Given the description of an element on the screen output the (x, y) to click on. 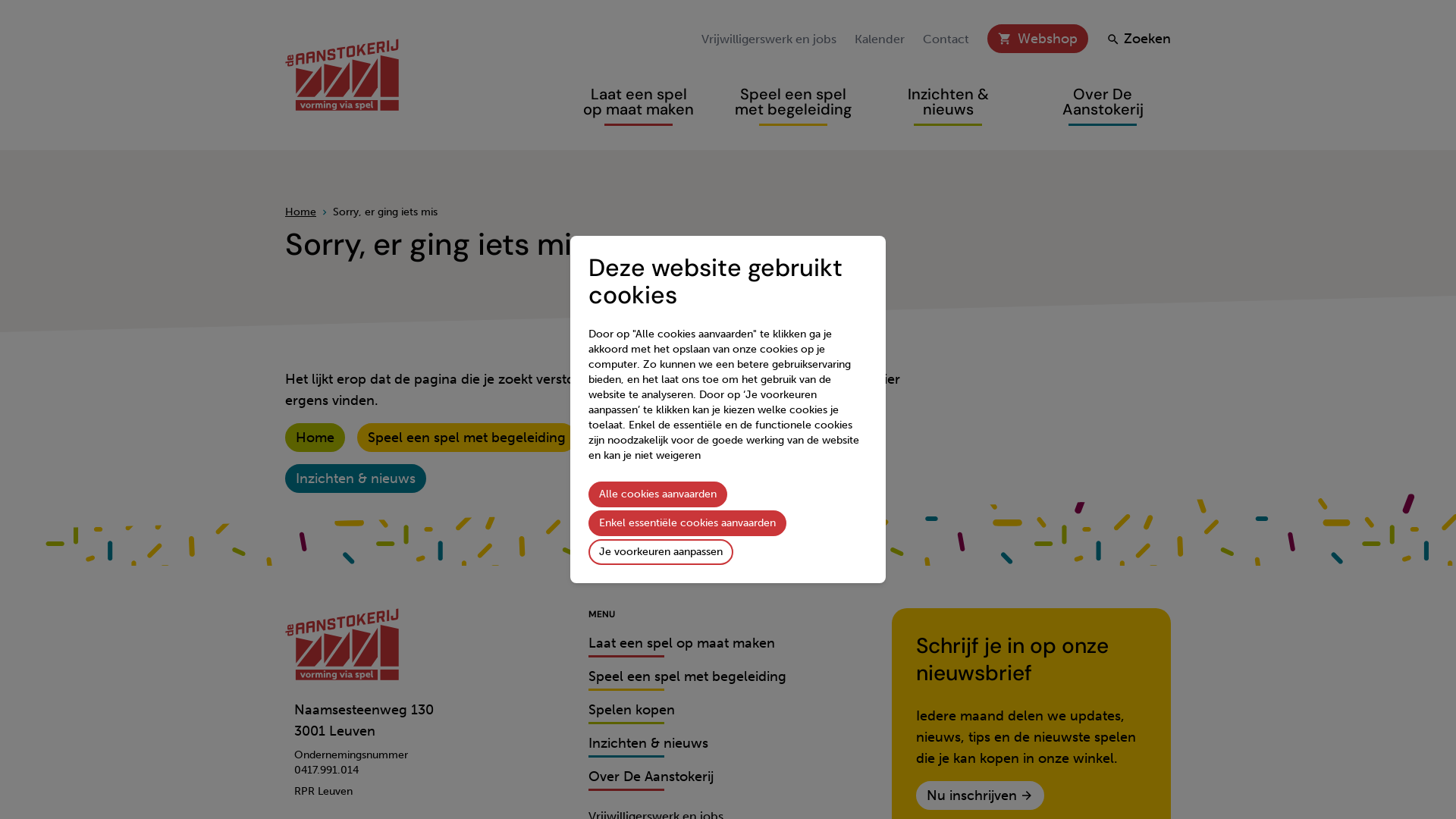
Laat een spel op maat maken Element type: text (638, 101)
Laat een spel op maat maken Element type: text (681, 645)
Alle cookies aanvaarden Element type: text (657, 494)
Kalender Element type: text (879, 38)
Speel een spel met begeleiding Element type: text (466, 437)
Over De Aanstokerij Element type: text (650, 779)
Speel een spel met begeleiding Element type: text (687, 679)
Vrijwilligerswerk en jobs Element type: text (768, 38)
Inzichten & nieuws Element type: text (355, 478)
Zoeken Element type: text (1138, 38)
Webshop Element type: text (1047, 38)
Webshop Element type: text (1037, 38)
Over De Aanstokerij Element type: text (1102, 101)
Nu inschrijven Element type: text (980, 795)
Speel een spel met begeleiding Element type: text (792, 101)
Sorry, er ging iets mis Element type: text (384, 211)
Home Element type: text (300, 211)
Home Element type: text (315, 437)
Laat een spel op maat maken Element type: text (692, 437)
Je voorkeuren aanpassen Element type: text (660, 551)
Spelen kopen Element type: text (631, 712)
Contact Element type: text (945, 38)
Inzichten & nieuws Element type: text (648, 745)
Inzichten & nieuws Element type: text (947, 101)
